Given the description of an element on the screen output the (x, y) to click on. 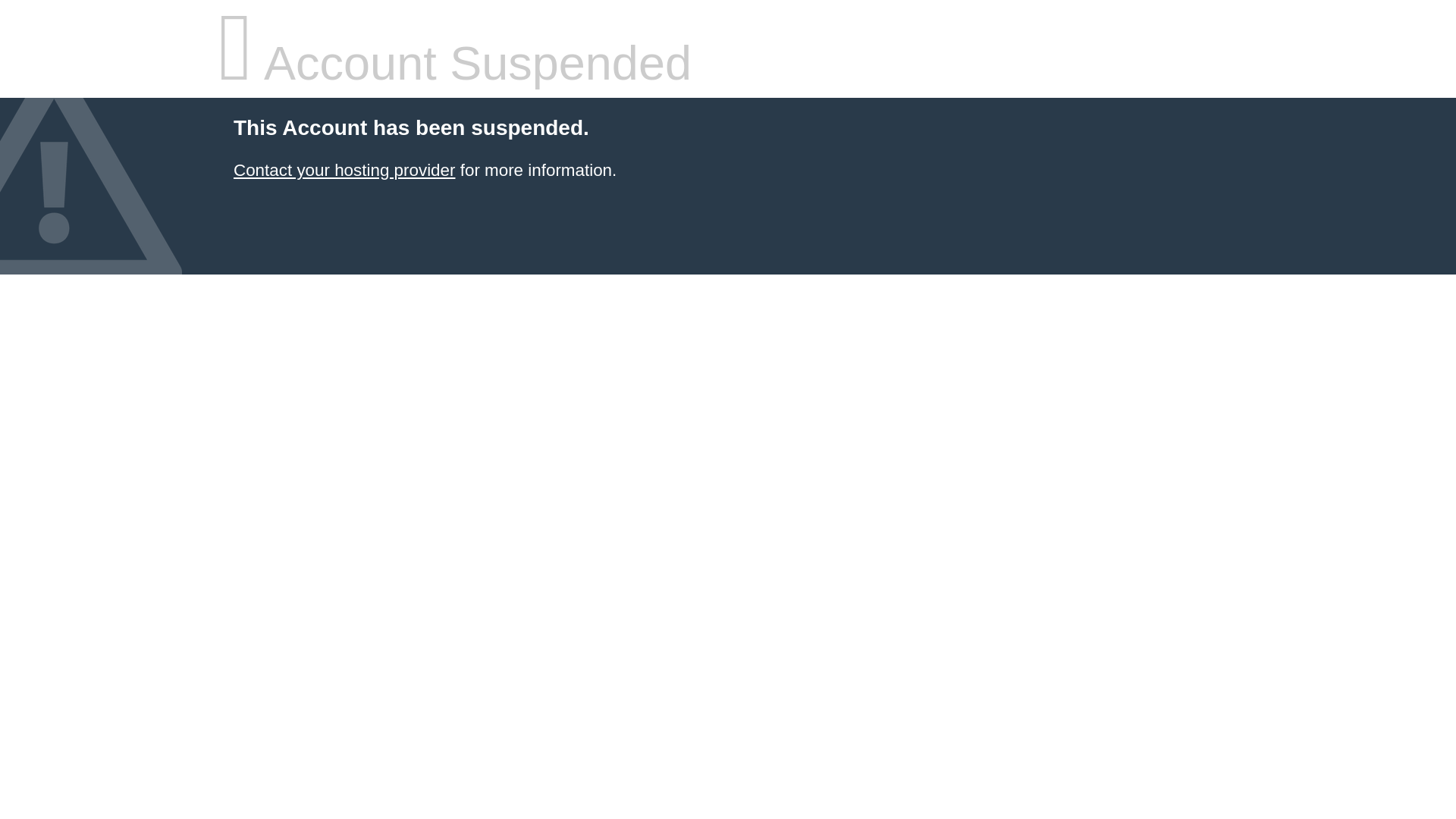
Contact your hosting provider (343, 169)
